Given the description of an element on the screen output the (x, y) to click on. 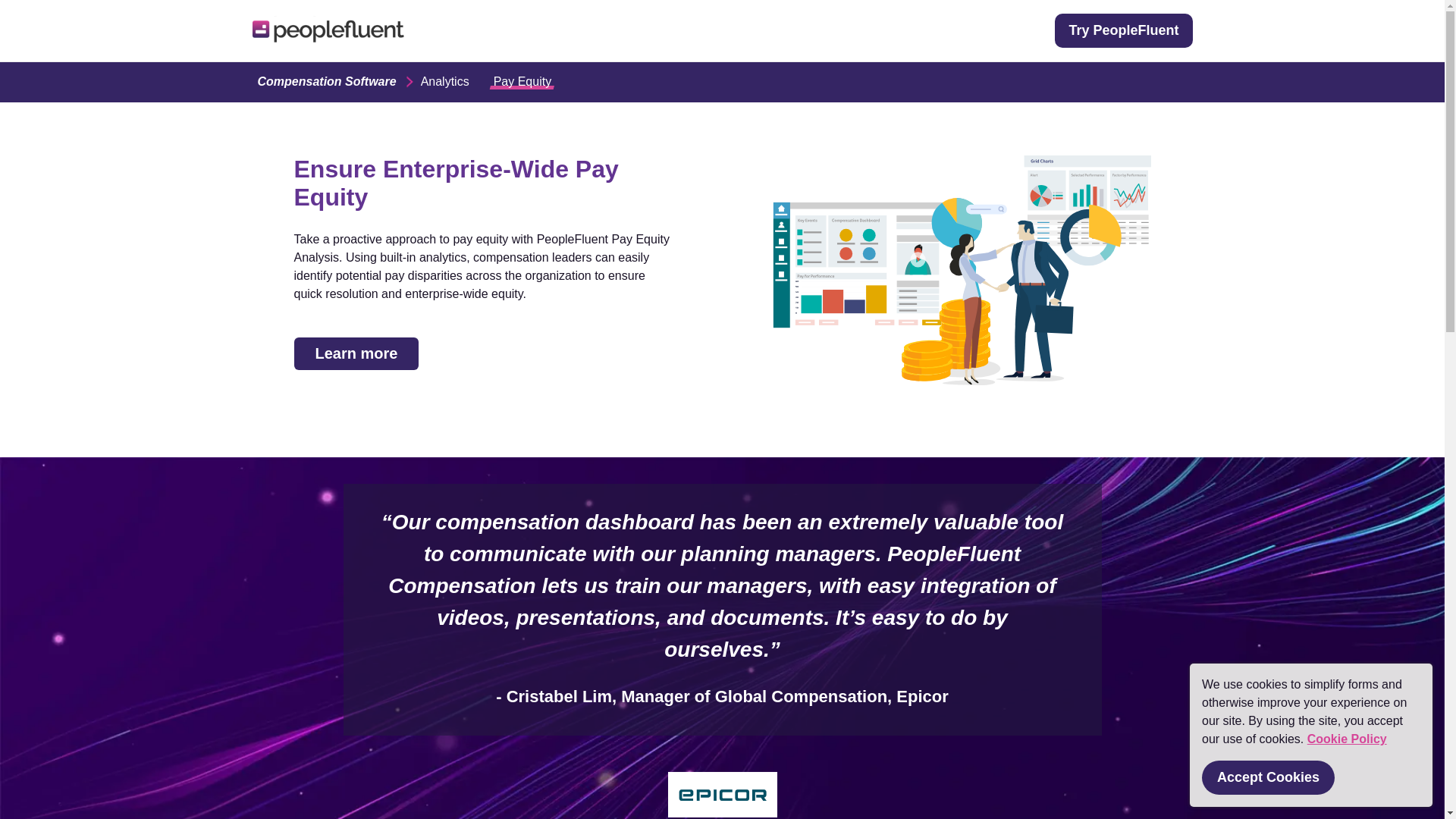
Try PeopleFluent (1123, 30)
Compensation Software (326, 80)
Accept Cookies (1268, 777)
Analytics (444, 80)
Pay Equity (522, 80)
Cookie Policy (1347, 738)
Learn more (356, 353)
